Given the description of an element on the screen output the (x, y) to click on. 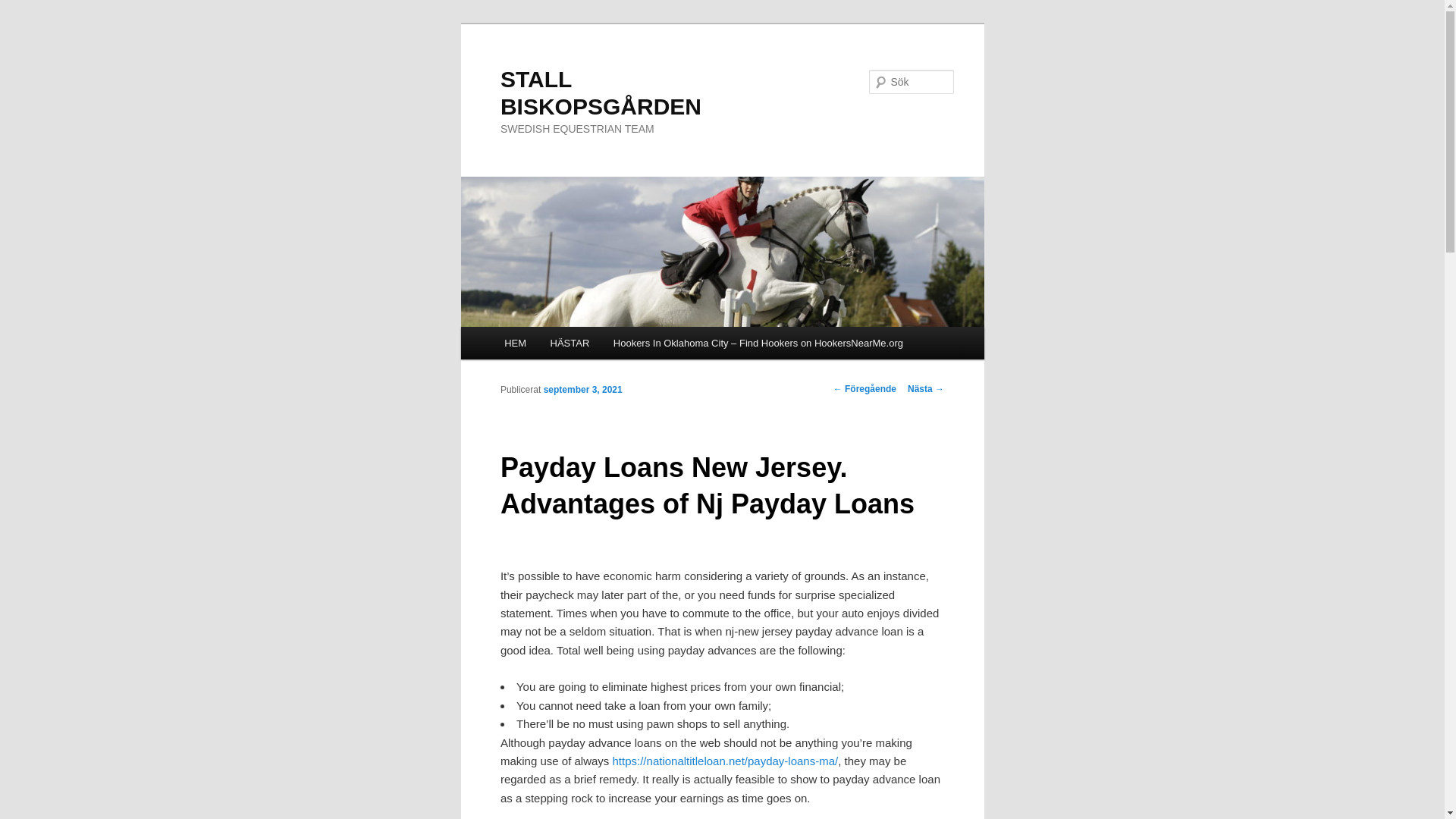
september 3, 2021 (583, 388)
1:36 f m (583, 388)
HEM (514, 342)
